Given the description of an element on the screen output the (x, y) to click on. 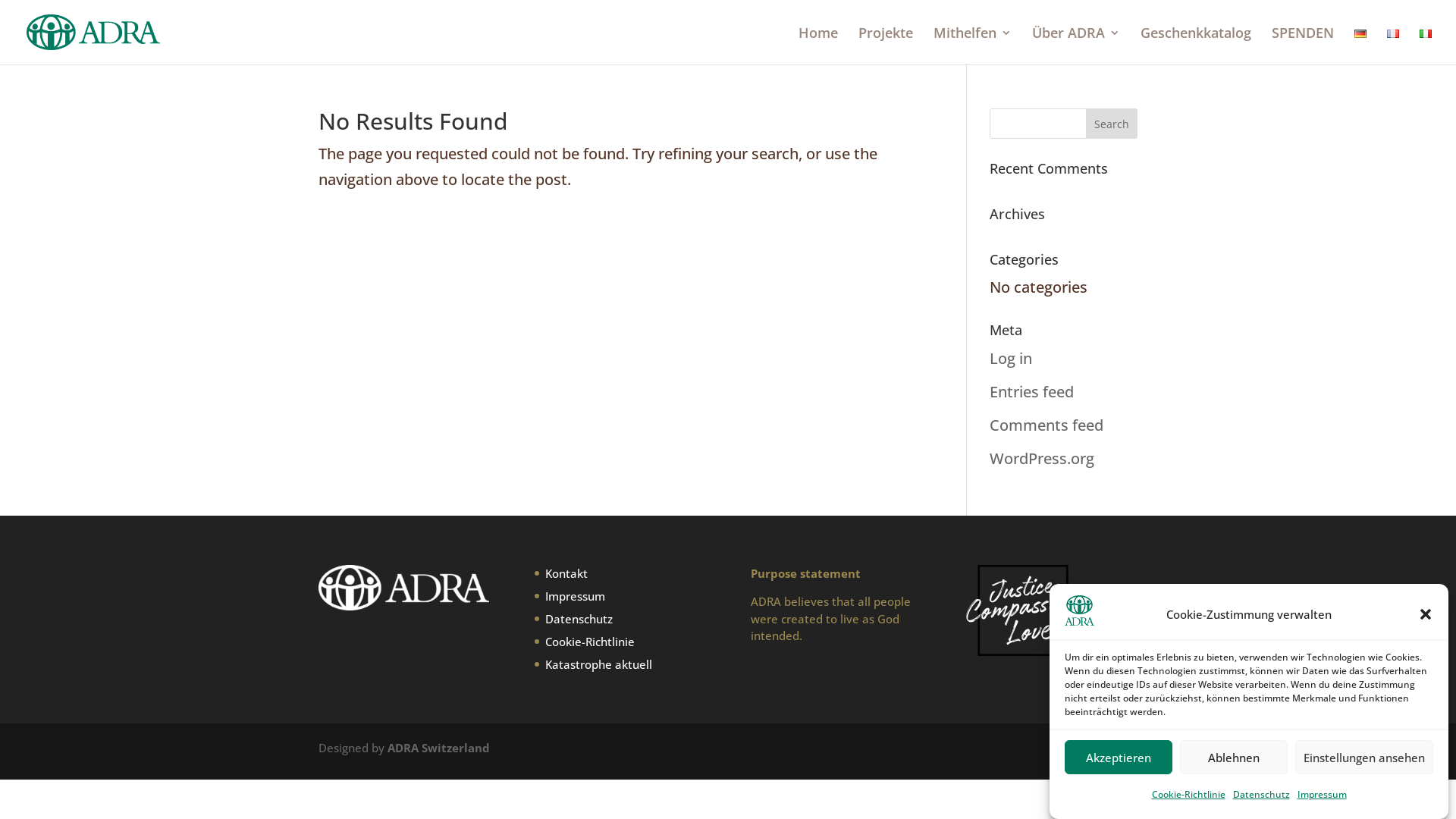
Home Element type: text (817, 46)
Impressum Element type: text (575, 595)
Akzeptieren Element type: text (1118, 757)
ADRA Switzerland Element type: text (438, 747)
Ablehnen Element type: text (1233, 757)
Einstellungen ansehen Element type: text (1364, 757)
Entries feed Element type: text (1031, 391)
Comments feed Element type: text (1046, 424)
Katastrophe aktuell Element type: text (598, 663)
Mithelfen Element type: text (972, 46)
Impressum Element type: text (1321, 794)
Search Element type: text (1111, 123)
WordPress.org Element type: text (1041, 458)
Cookie-Richtlinie Element type: text (589, 641)
Cookie-Richtlinie Element type: text (1187, 794)
Kontakt Element type: text (566, 572)
Log in Element type: text (1010, 358)
Datenschutz Element type: text (1261, 794)
Projekte Element type: text (885, 46)
Geschenkkatalog Element type: text (1195, 46)
SPENDEN Element type: text (1302, 46)
Datenschutz Element type: text (578, 618)
